Given the description of an element on the screen output the (x, y) to click on. 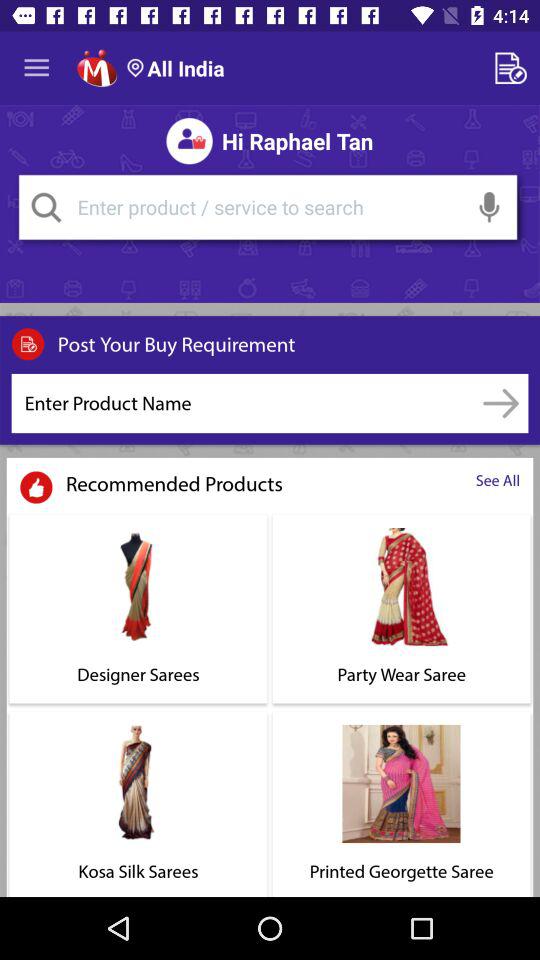
search (45, 207)
